Given the description of an element on the screen output the (x, y) to click on. 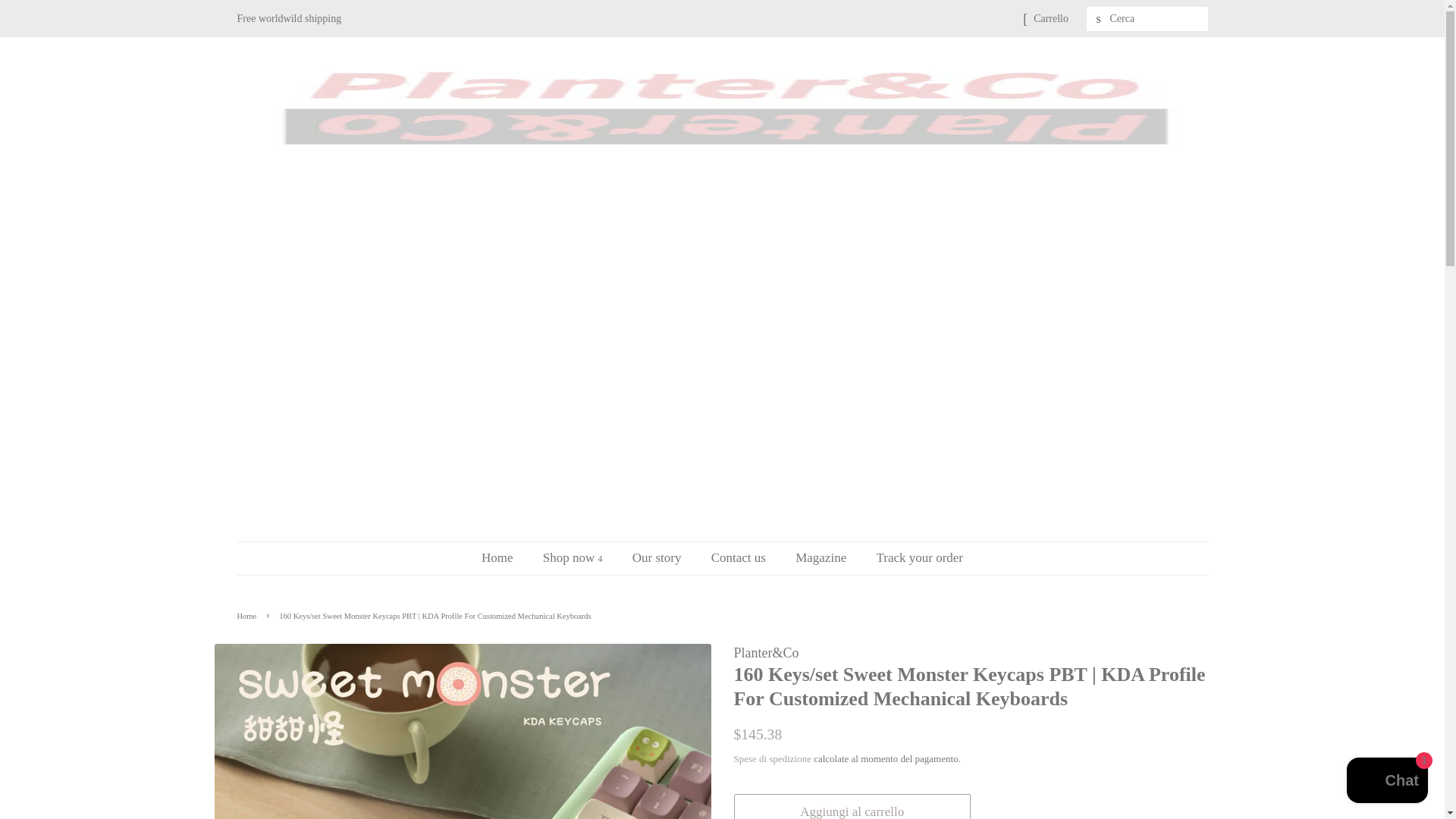
Cerca (1097, 18)
Carrello (1050, 18)
Chat negozio online di Shopify (1387, 781)
Torna alla pagina iniziale (247, 615)
